Given the description of an element on the screen output the (x, y) to click on. 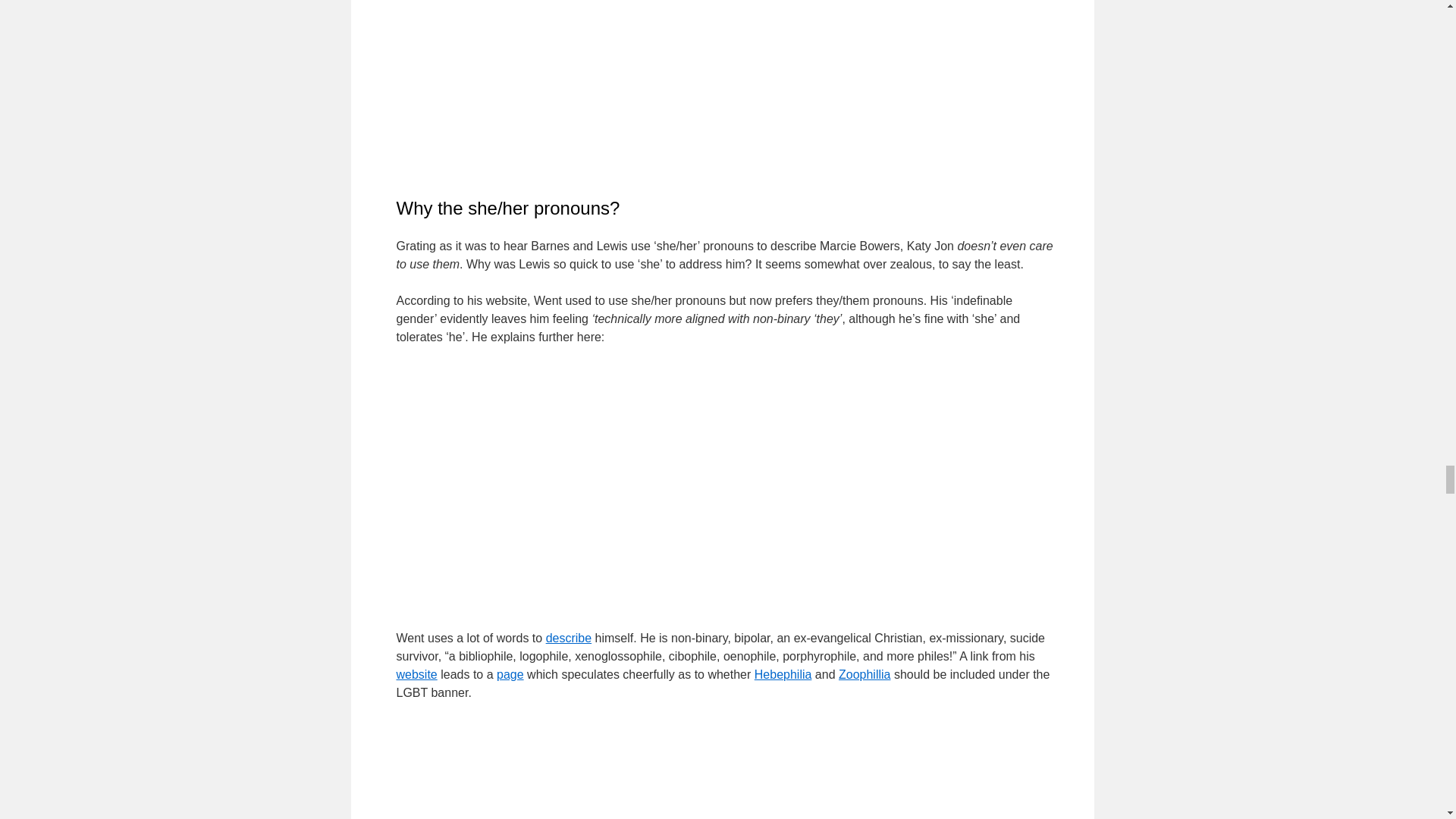
page (510, 674)
Hebephilia (783, 674)
describe (568, 637)
Zoophillia (863, 674)
website (416, 674)
